Given the description of an element on the screen output the (x, y) to click on. 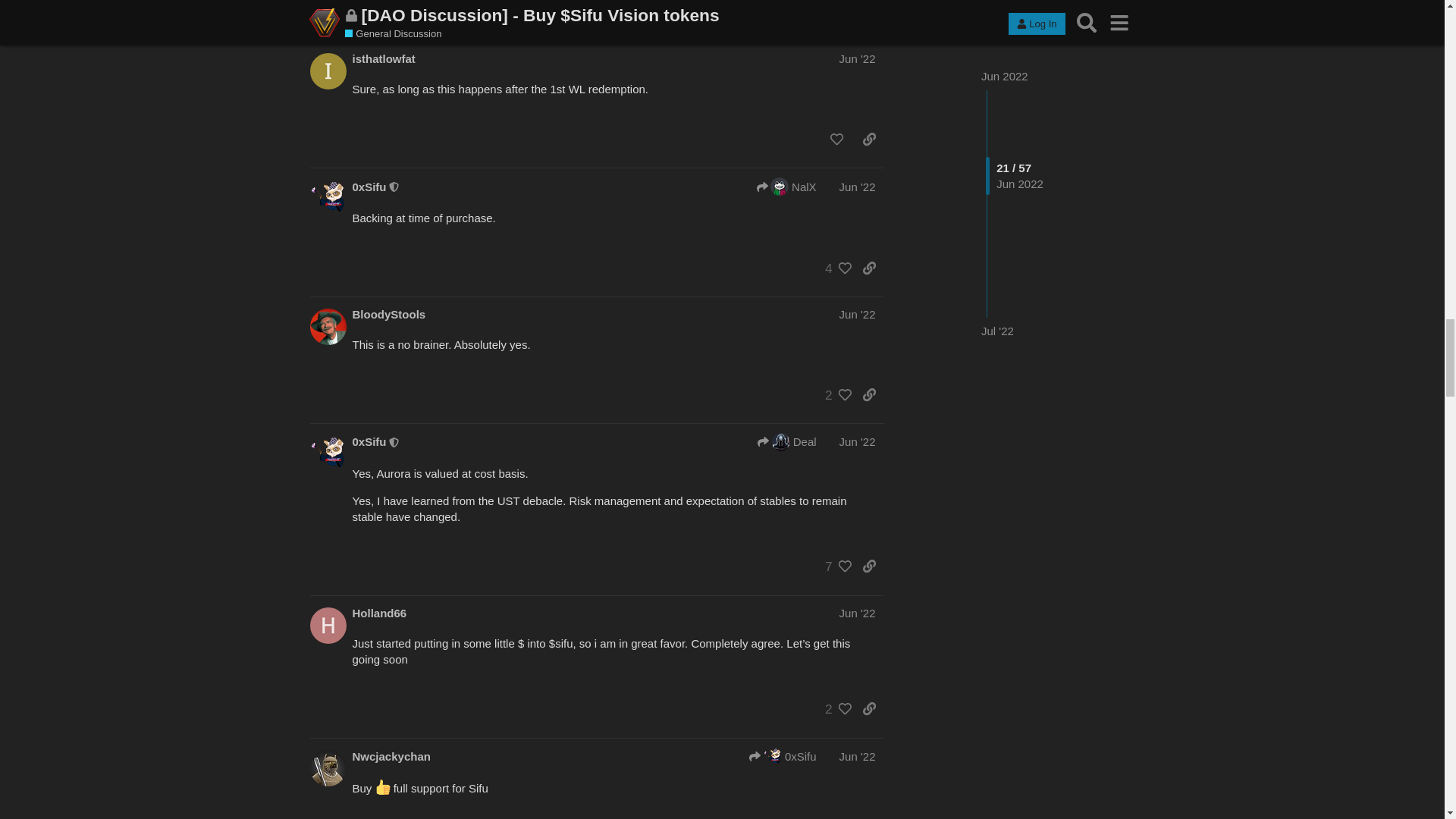
11:49AM - 03 September 2023 (402, 26)
